Given the description of an element on the screen output the (x, y) to click on. 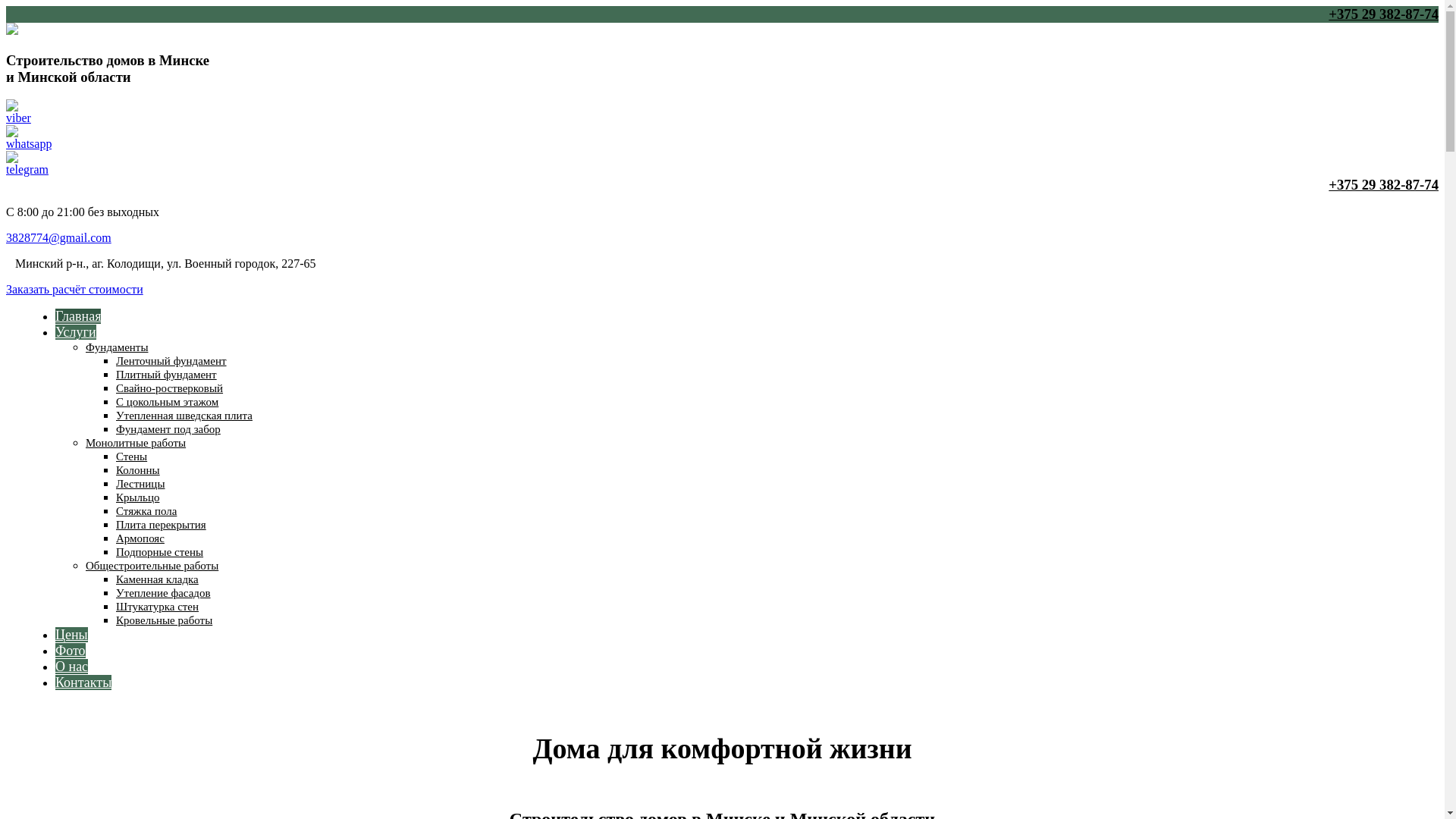
3828774@gmail.com Element type: text (58, 237)
+375 29 382-87-74 Element type: text (722, 14)
+375 29 382-87-74 Element type: text (722, 184)
